Given the description of an element on the screen output the (x, y) to click on. 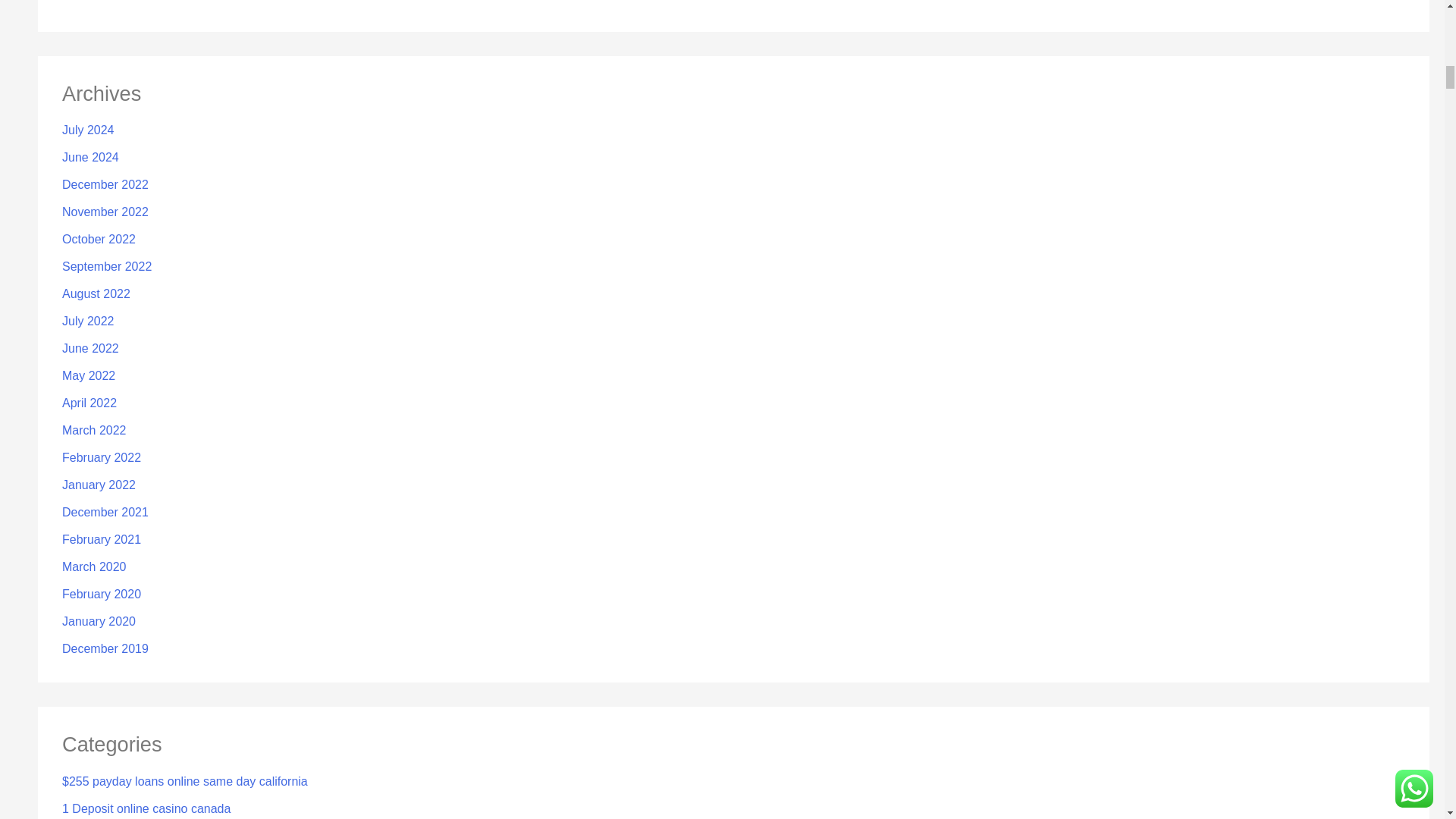
November 2022 (105, 211)
July 2024 (88, 129)
October 2022 (98, 238)
June 2024 (90, 156)
December 2022 (105, 184)
September 2022 (106, 266)
